Given the description of an element on the screen output the (x, y) to click on. 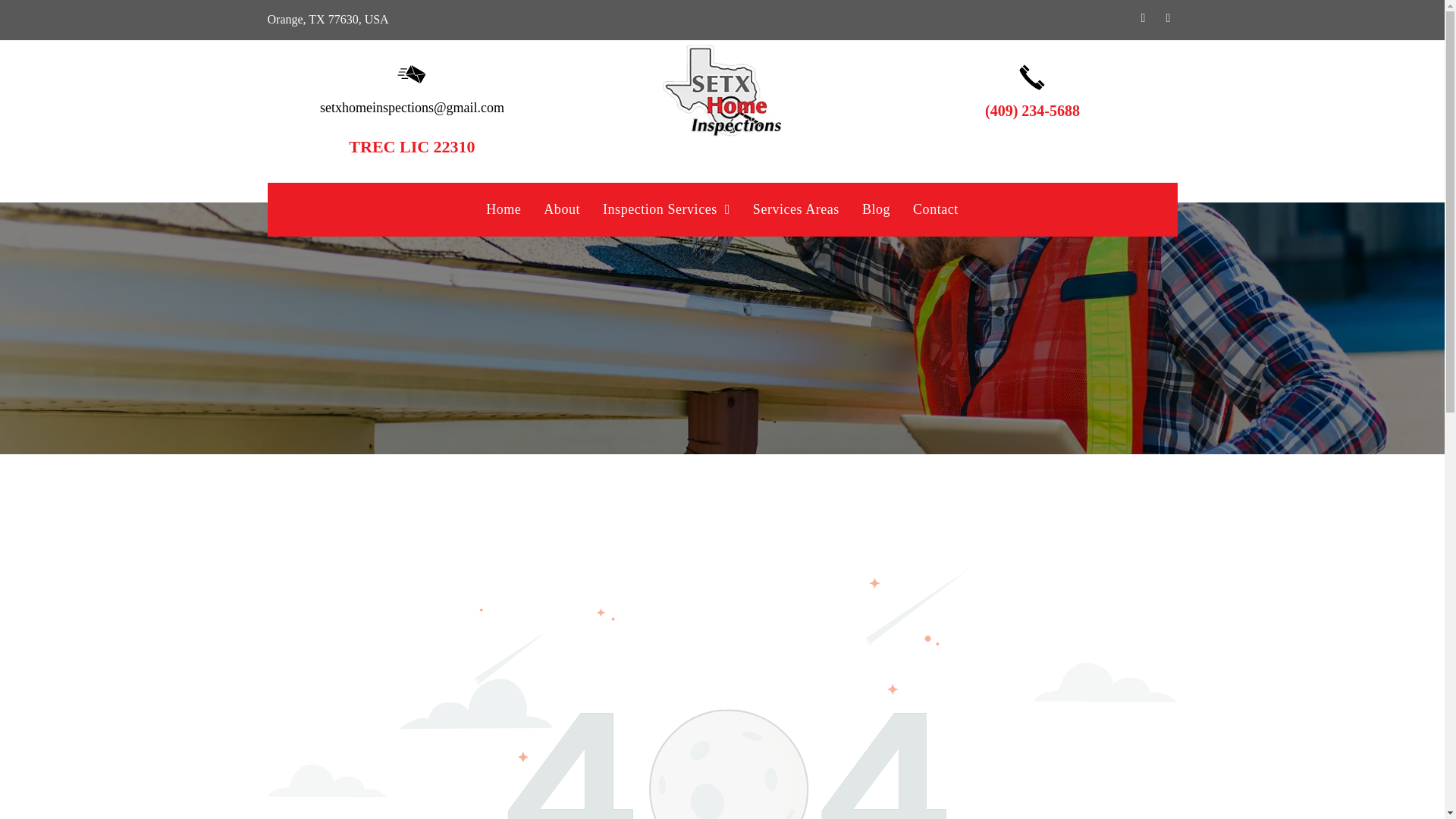
Blog (875, 209)
Contact (935, 209)
Home (503, 209)
SETX Home Inspections (721, 90)
Services Areas (795, 209)
Inspection Services (666, 209)
A black and white icon of a telephone on a white background. (1031, 77)
About (561, 209)
A black and white icon of an envelope on a white background. (411, 73)
